Given the description of an element on the screen output the (x, y) to click on. 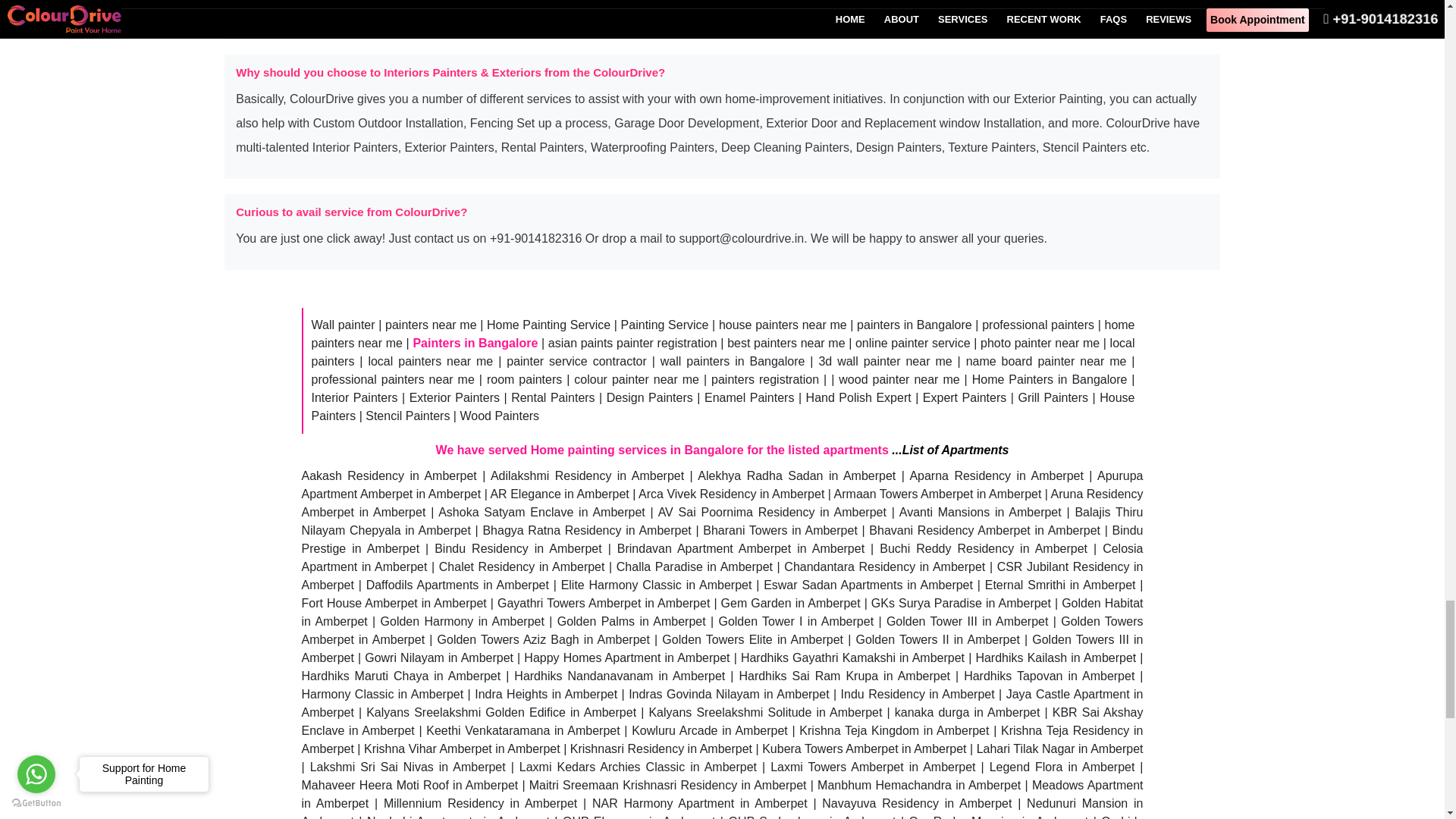
...List of Apartments (950, 449)
